Given the description of an element on the screen output the (x, y) to click on. 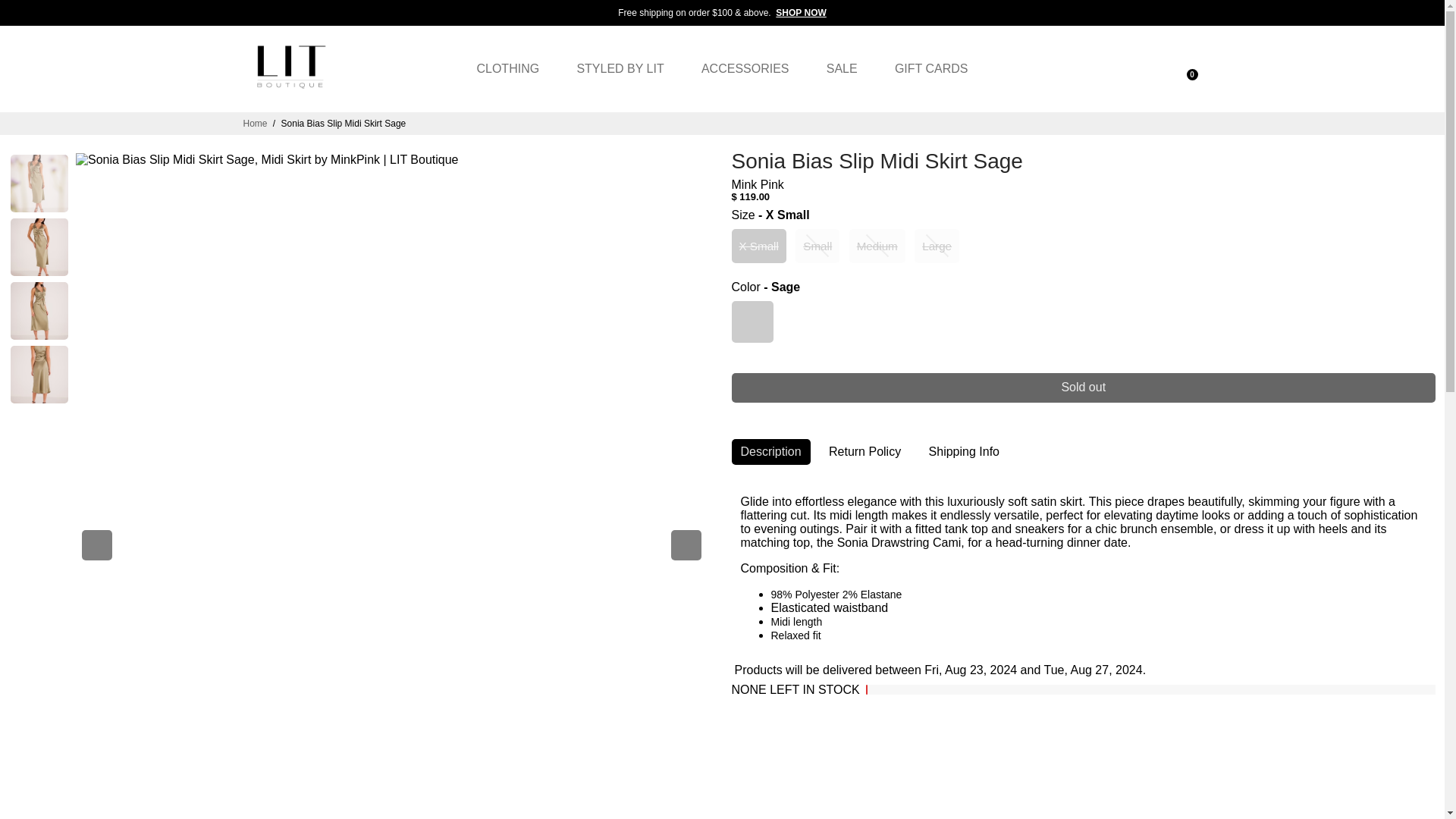
CLOTHING (507, 68)
STYLED BY LIT (619, 68)
New Arrivals (800, 12)
Home (254, 122)
SHOP NOW (800, 12)
